Given the description of an element on the screen output the (x, y) to click on. 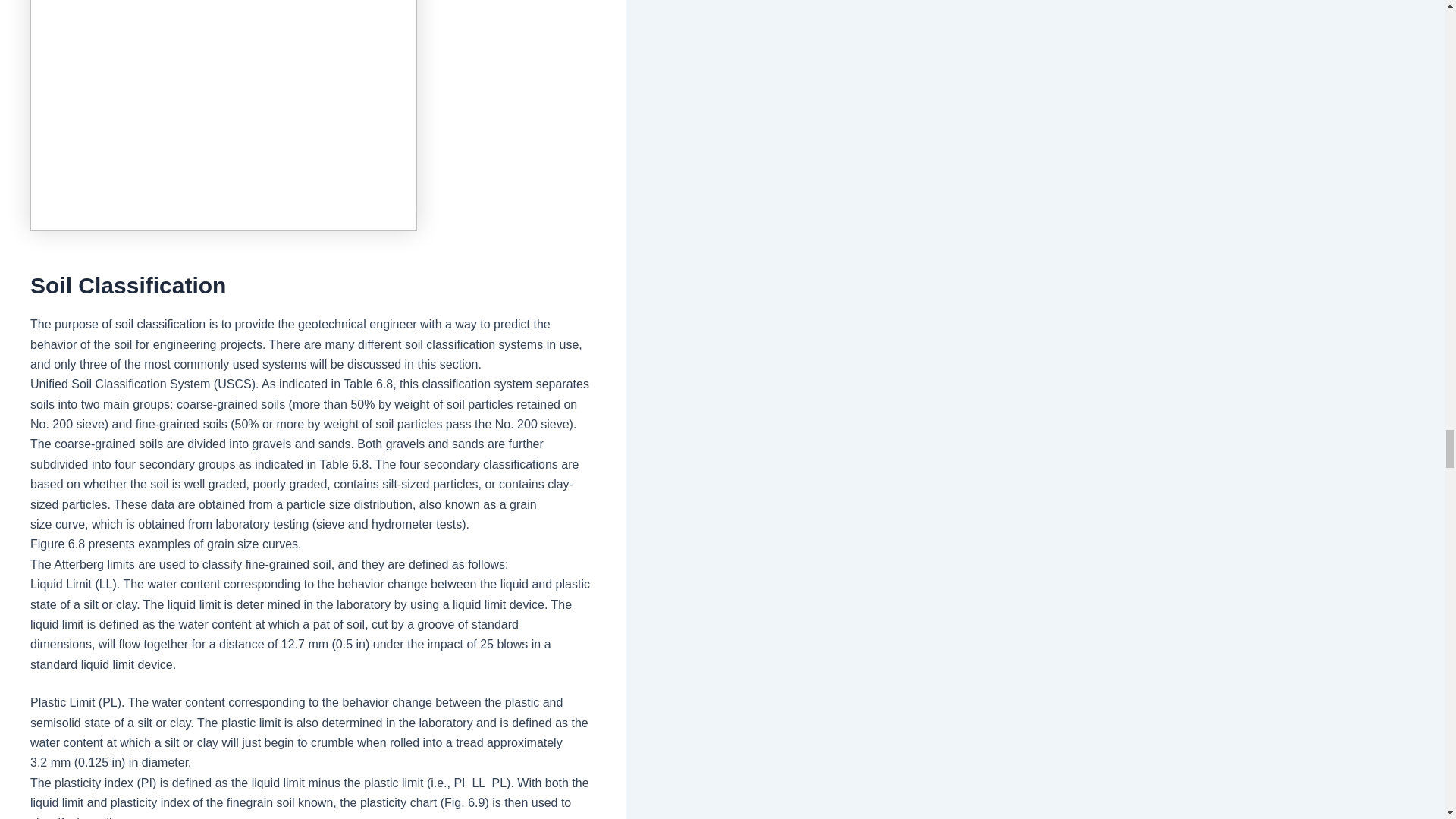
TABLE 6.7 Mass and Volume Relationships (223, 115)
